Given the description of an element on the screen output the (x, y) to click on. 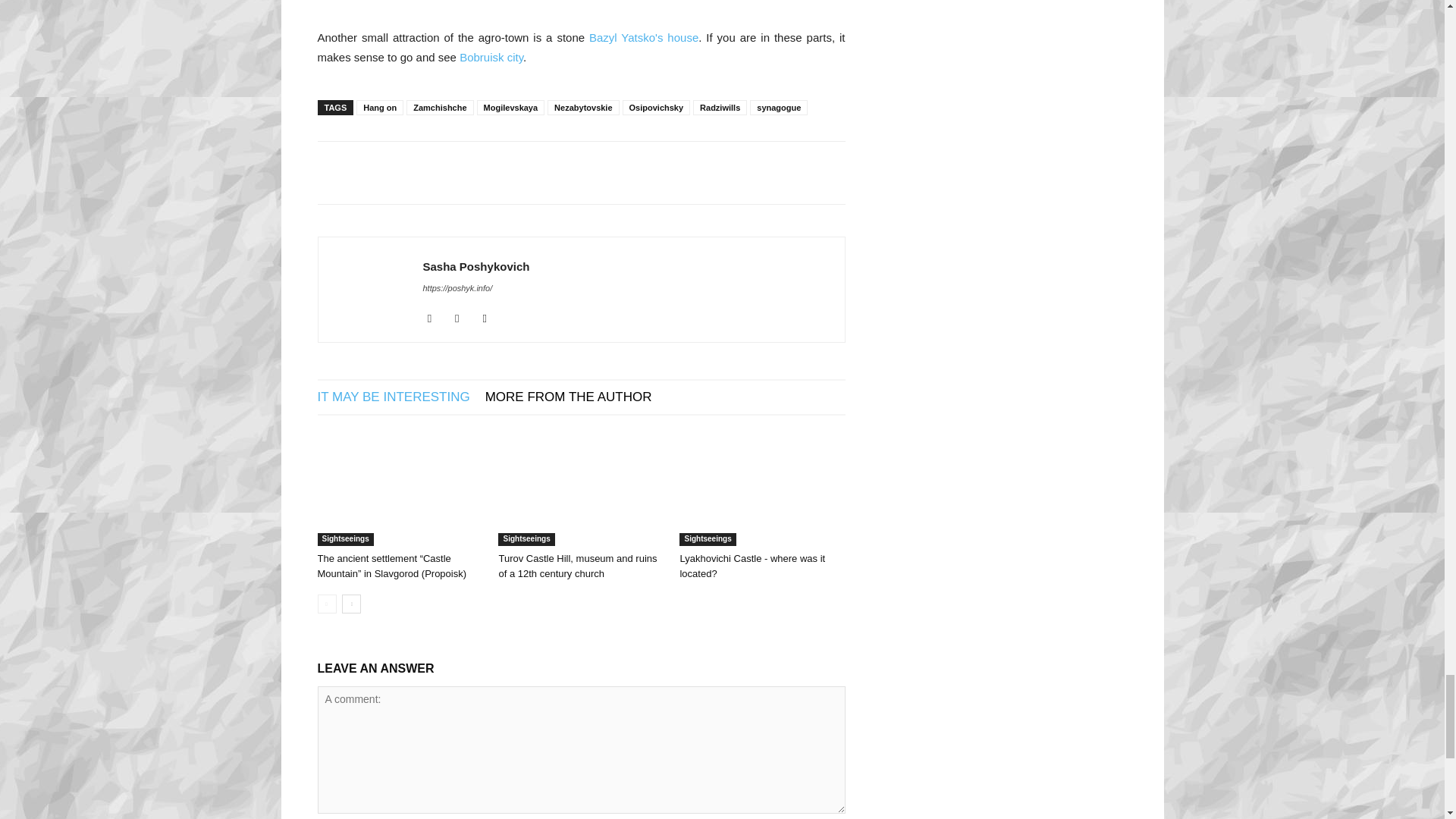
Bobruisk city (491, 56)
Bazyl Yatsko's house (643, 37)
Radziwills (719, 107)
Hang on (379, 107)
Zamchishche (439, 107)
synagogue (778, 107)
Osipovichsky (656, 107)
Nezabytovskie (582, 107)
Mogilevskaya (510, 107)
